Given the description of an element on the screen output the (x, y) to click on. 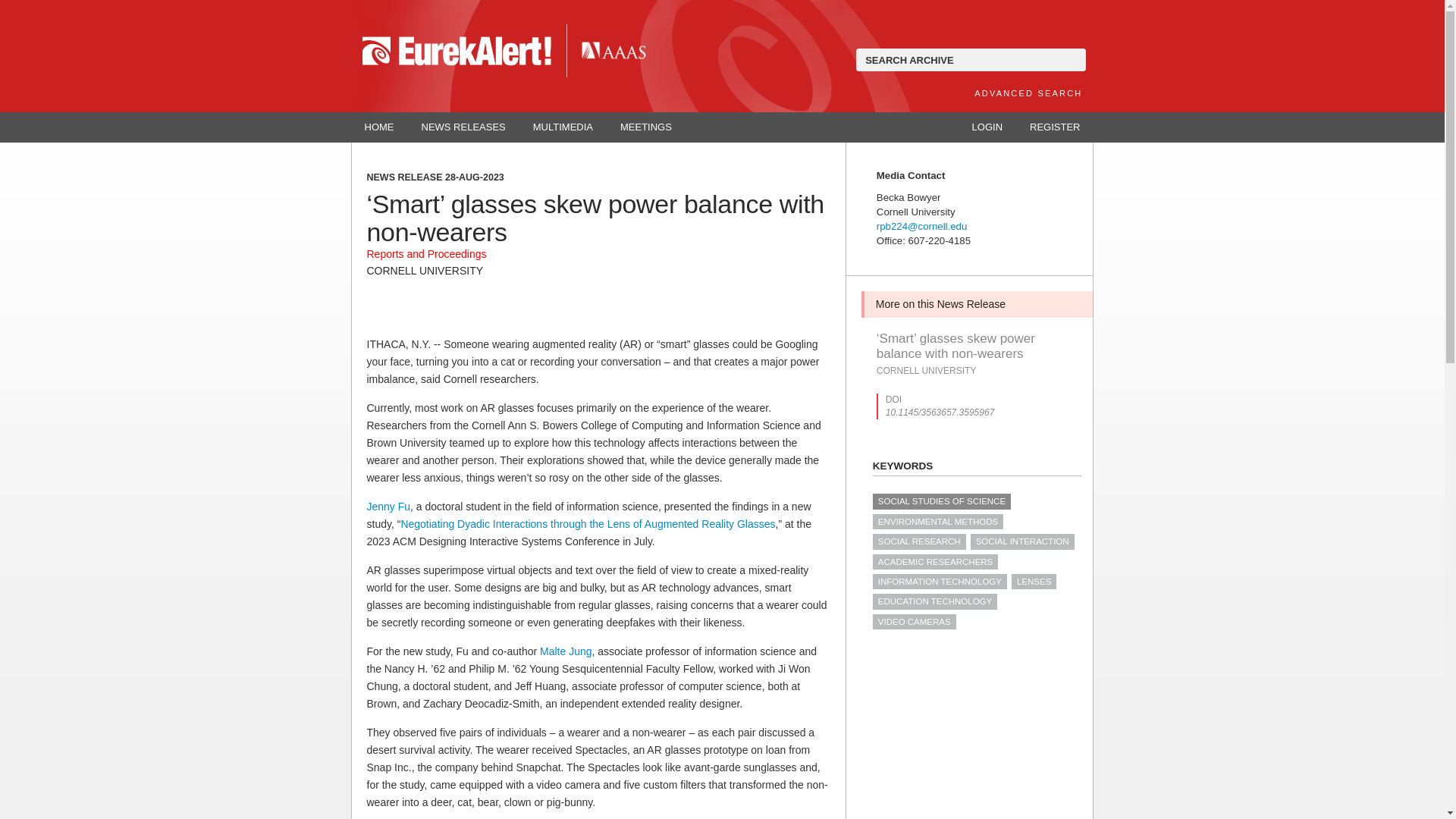
MULTIMEDIA (563, 127)
Malte Jung (565, 651)
EDUCATION TECHNOLOGY (934, 601)
Reports and Proceedings (426, 254)
INFORMATION TECHNOLOGY (939, 581)
HOME (378, 127)
MEETINGS (646, 127)
ACADEMIC RESEARCHERS (934, 561)
ADVANCED SEARCH (1027, 92)
